Given the description of an element on the screen output the (x, y) to click on. 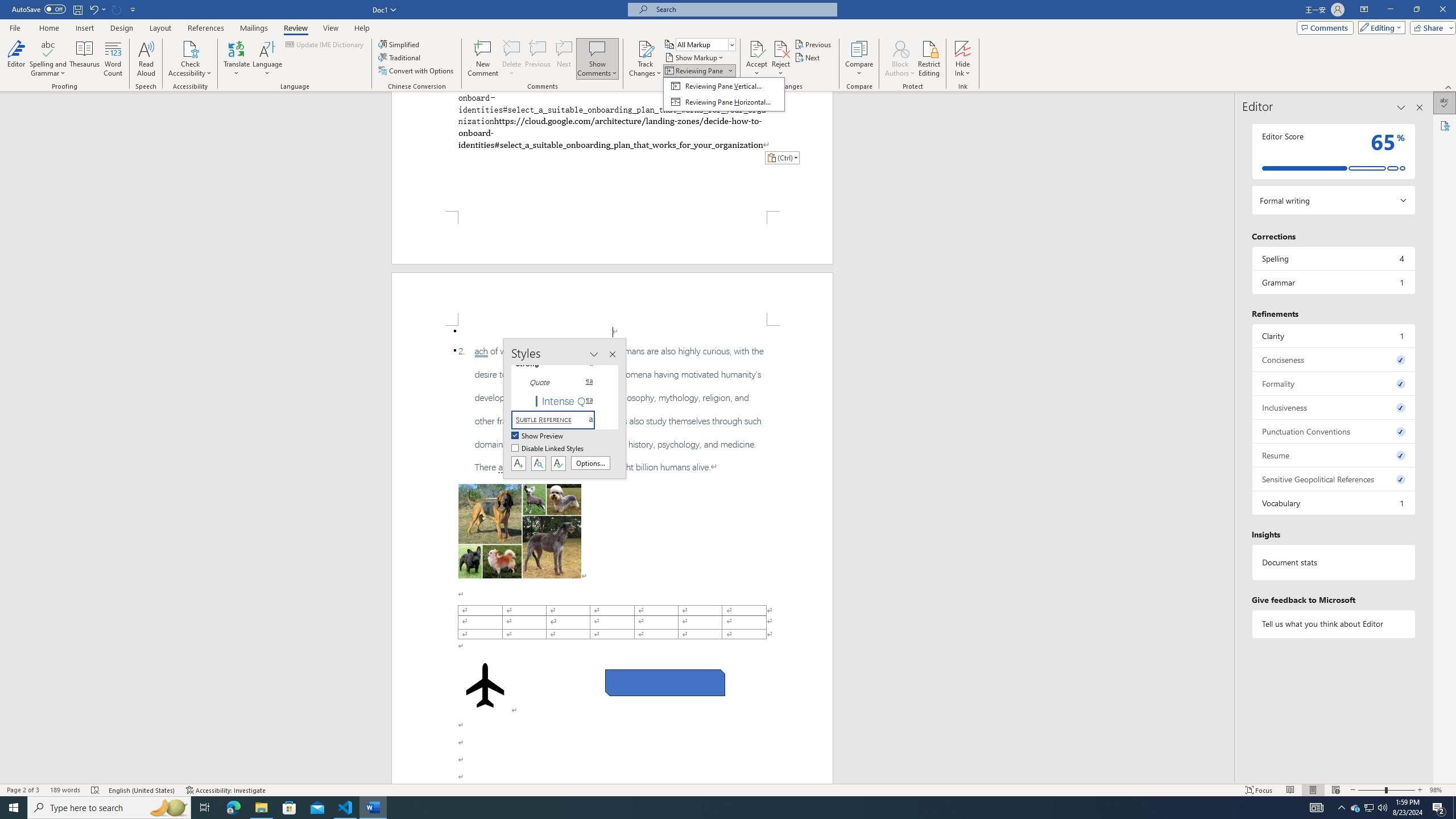
Vocabulary, 1 issue. Press space or enter to review items. (1333, 502)
Convert with Options... (417, 69)
Restrict Editing (929, 58)
